Given the description of an element on the screen output the (x, y) to click on. 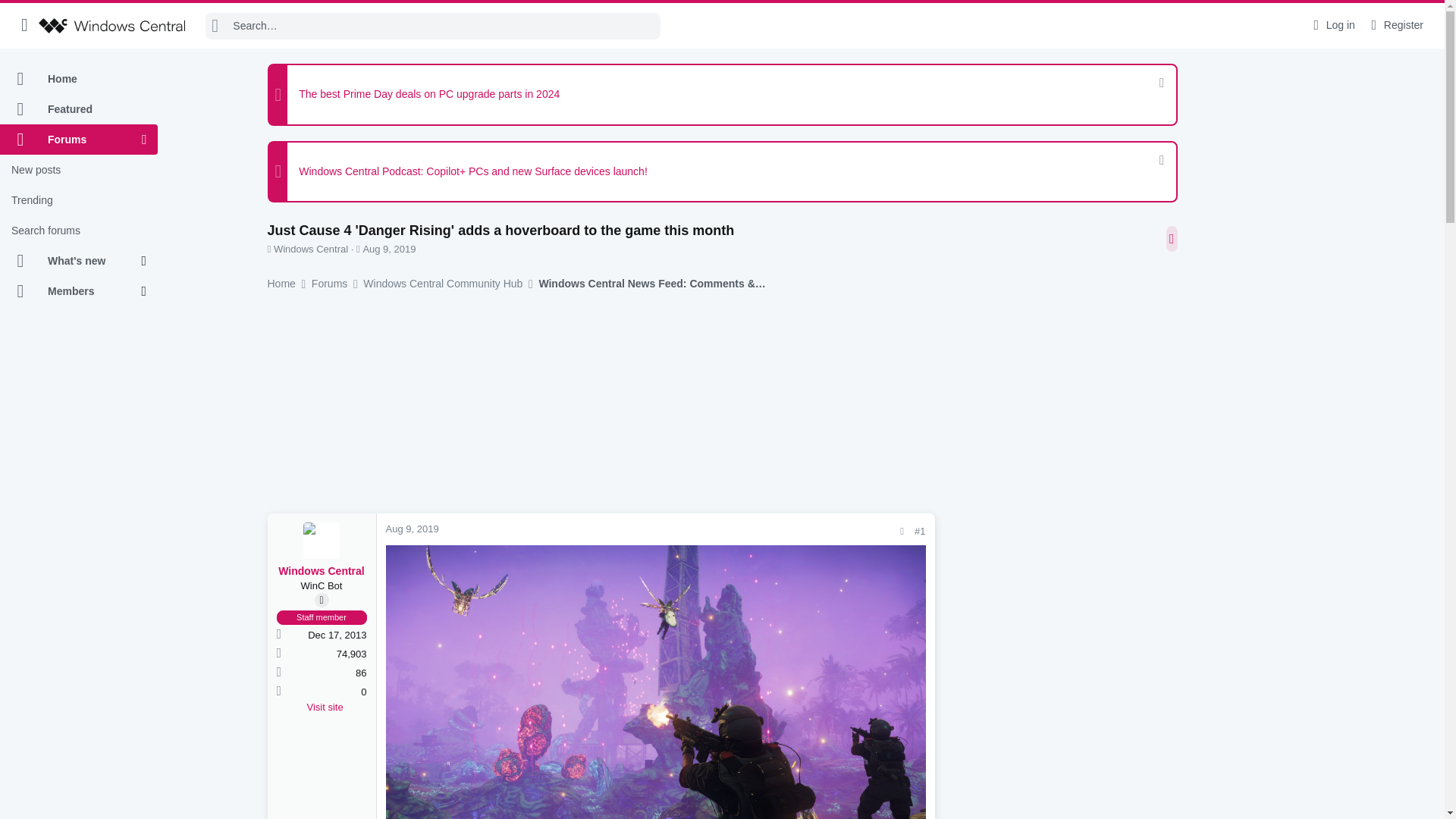
New posts (78, 169)
Home (78, 78)
What's new (70, 260)
Trending (78, 200)
Log in (1332, 24)
Aug 9, 2019 at 8:30 PM (411, 528)
Aug 9, 2019 at 8:30 PM (388, 248)
Forums (70, 139)
Featured (78, 109)
Register (1395, 24)
Search forums (78, 230)
Thread starter (268, 248)
